Given the description of an element on the screen output the (x, y) to click on. 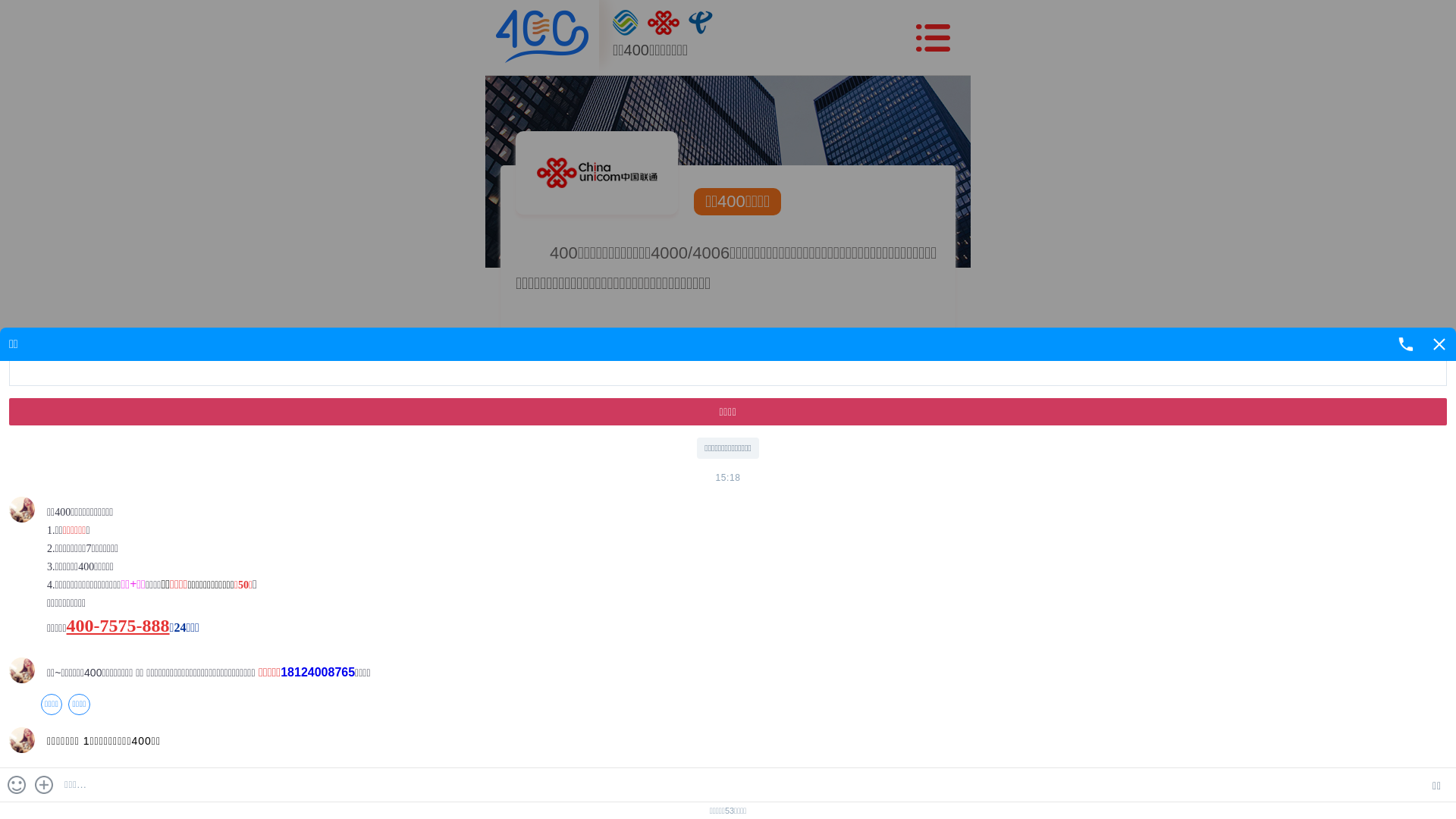
2 Element type: text (1409, 427)
